Given the description of an element on the screen output the (x, y) to click on. 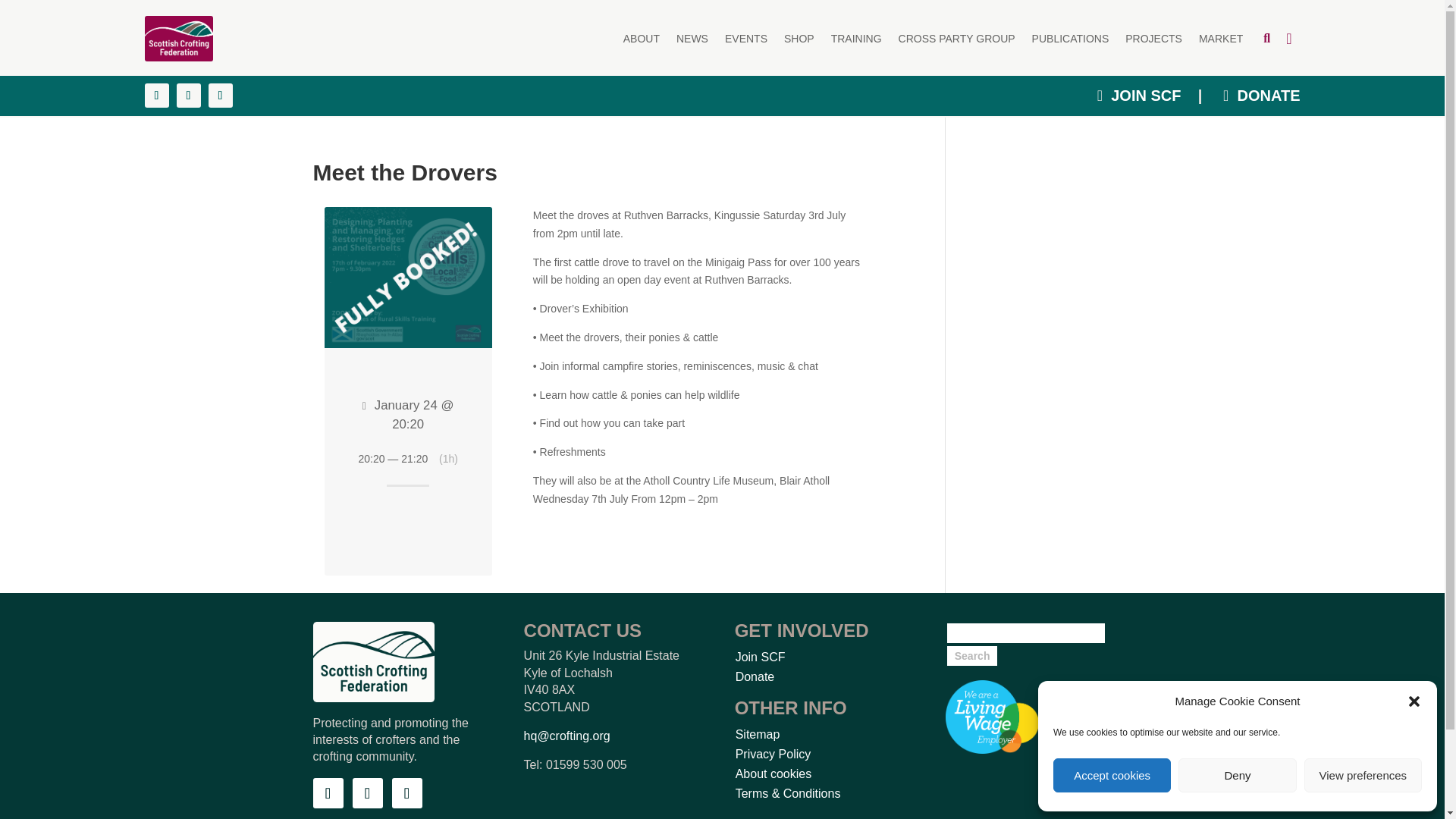
Follow on Twitter (366, 793)
Follow on Instagram (220, 95)
Follow on Instagram (406, 793)
CROSS PARTY GROUP (956, 38)
Follow on Facebook (327, 793)
View preferences (1363, 775)
Deny (1236, 775)
PROJECTS (1153, 38)
Follow on Twitter (188, 95)
Accept cookies (1111, 775)
